Given the description of an element on the screen output the (x, y) to click on. 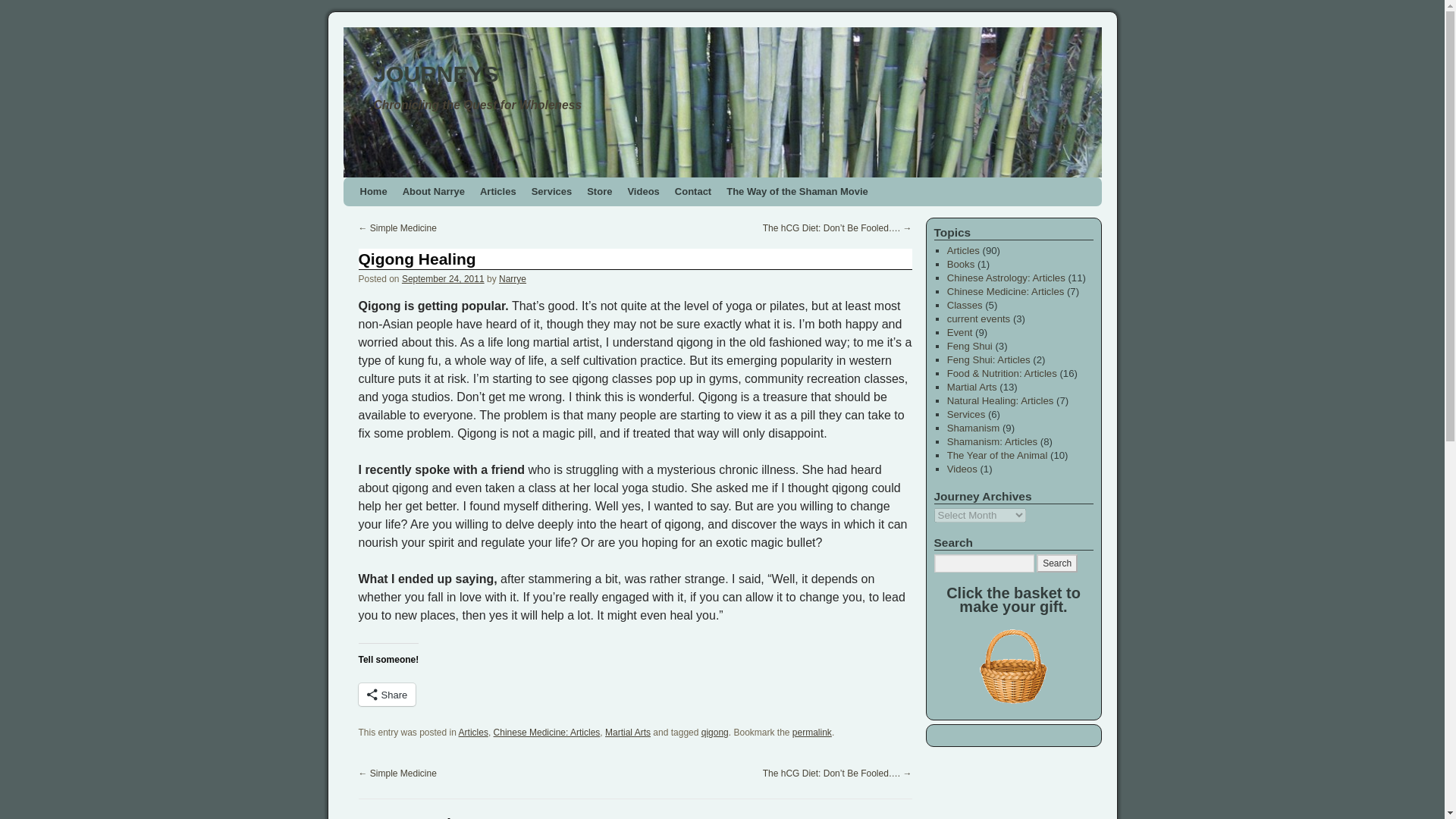
Narrye (512, 278)
Share (386, 694)
5:49 pm (442, 278)
September 24, 2011 (442, 278)
Search (1056, 563)
Videos (643, 191)
Chinese Medicine: Articles (546, 732)
JOURNEYS (721, 102)
Permalink to Qigong Healing (811, 732)
Articles (472, 732)
About Narrye (432, 191)
Contact (692, 191)
Store (599, 191)
Home (373, 191)
Articles (497, 191)
